Given the description of an element on the screen output the (x, y) to click on. 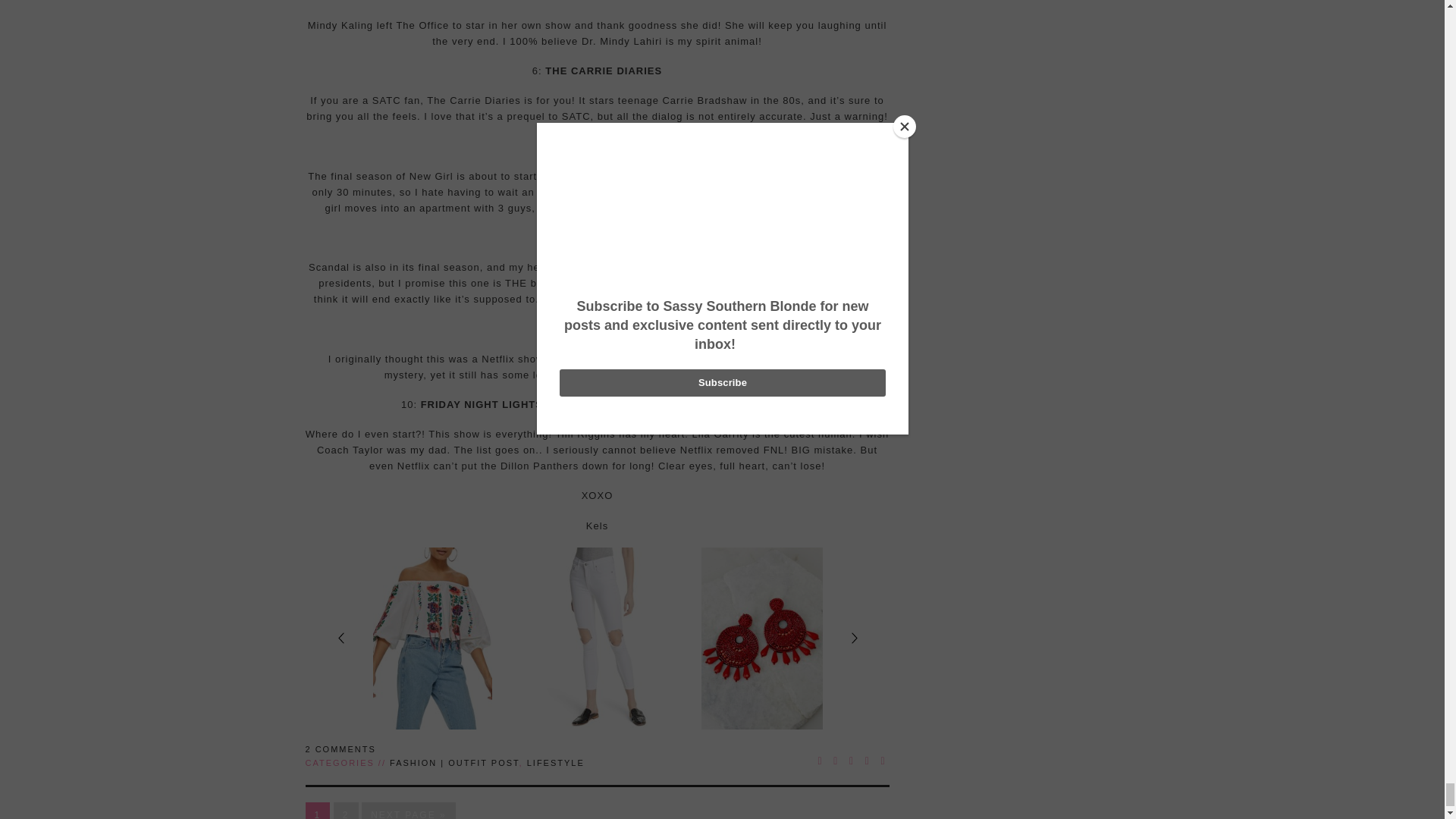
Share this post on Twitter! (835, 760)
